Given the description of an element on the screen output the (x, y) to click on. 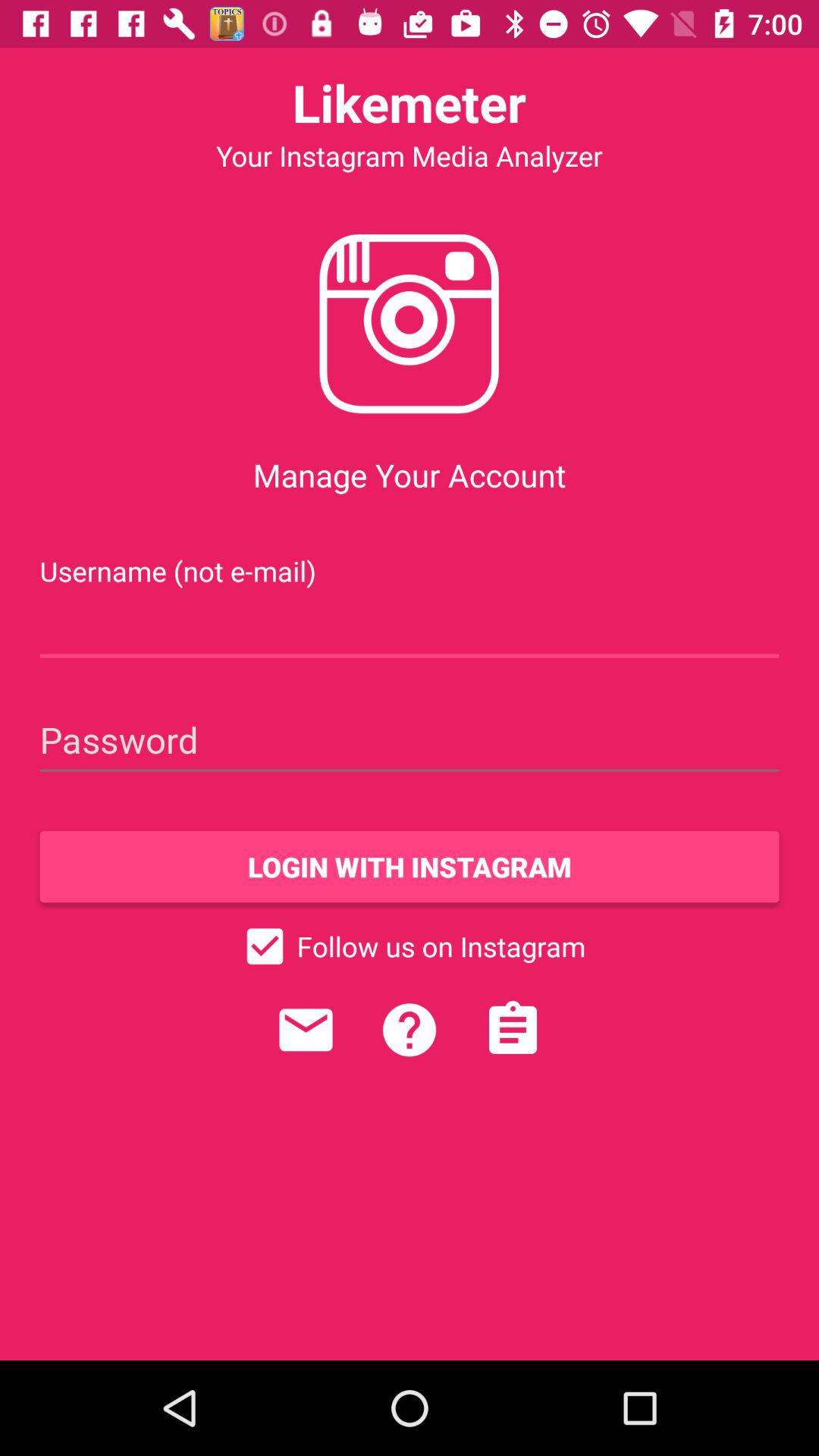
help (409, 1029)
